Given the description of an element on the screen output the (x, y) to click on. 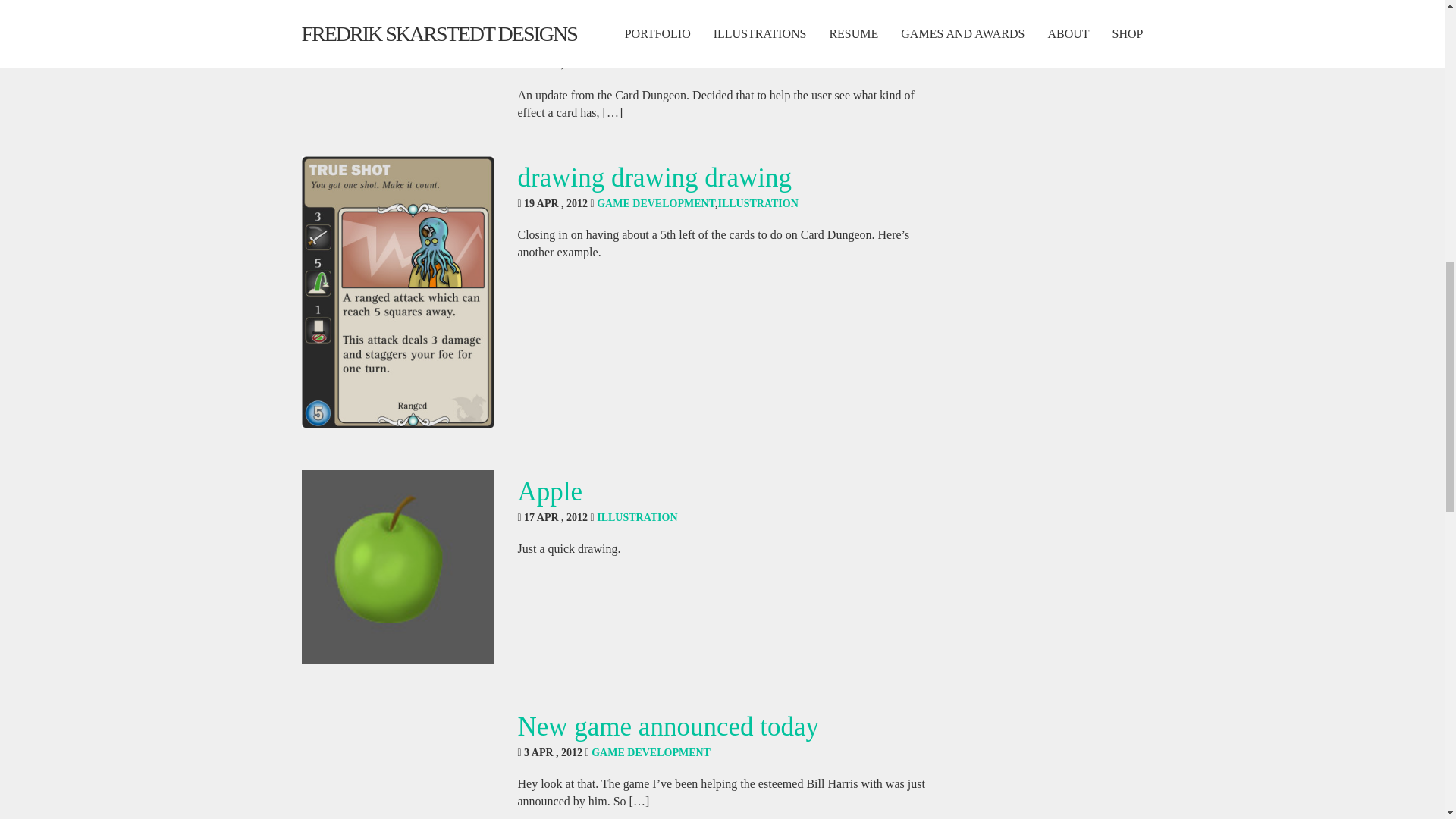
Apple (549, 491)
ILLUSTRATION (636, 517)
Color codes (580, 38)
GAME DEVELOPMENT (650, 752)
GAME DEVELOPMENT (655, 203)
drawing drawing drawing (654, 177)
New game announced today (667, 726)
ILLUSTRATION (757, 203)
GAME DEVELOPMENT (656, 63)
